Given the description of an element on the screen output the (x, y) to click on. 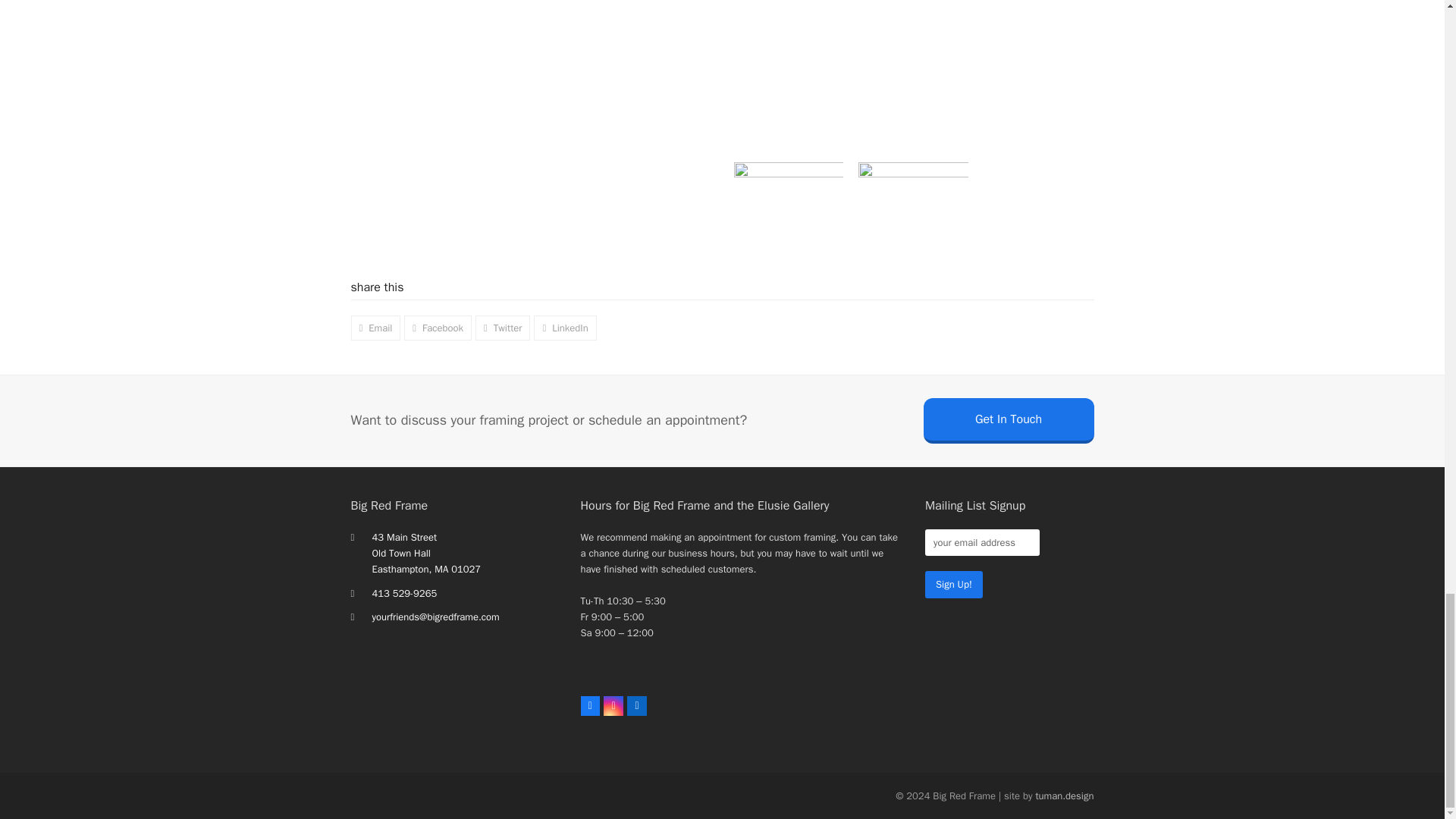
LinkedIn (636, 705)
Sign Up! (953, 583)
Instagram (613, 705)
Facebook (589, 705)
your email address (981, 542)
